Given the description of an element on the screen output the (x, y) to click on. 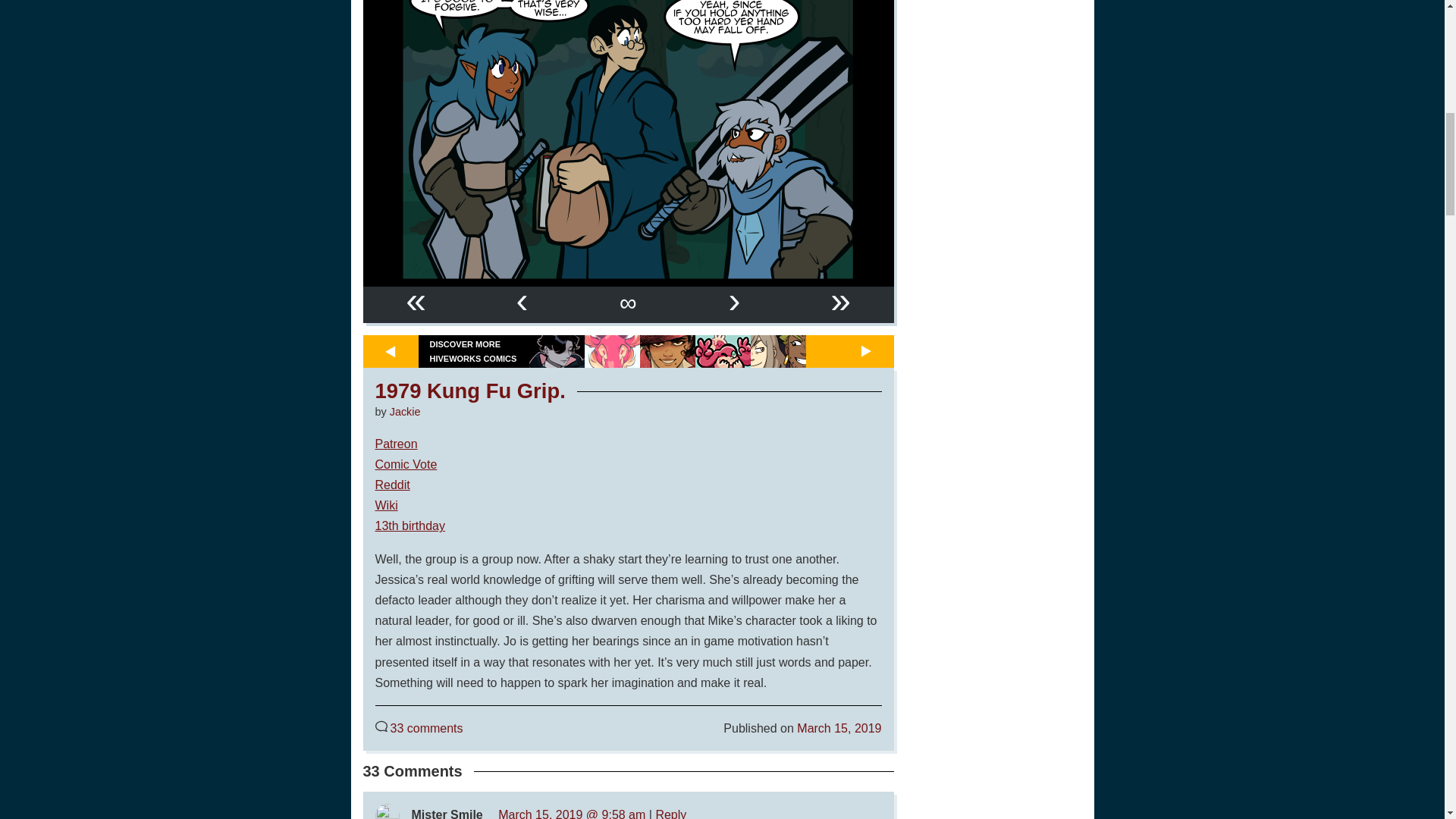
DISCOVER MORE HIVEWORKS COMICS (472, 351)
